Given the description of an element on the screen output the (x, y) to click on. 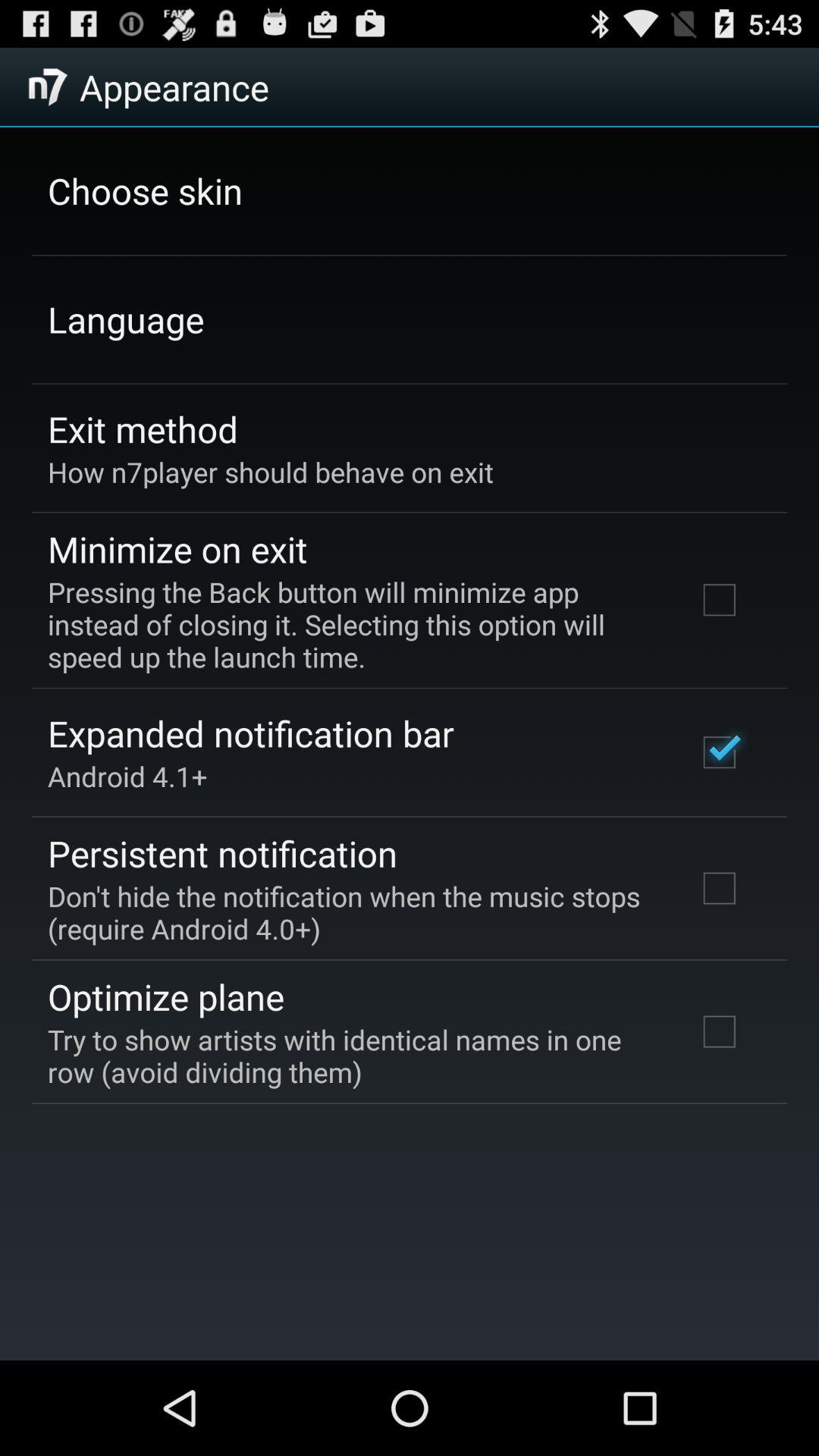
scroll to the optimize plane (165, 996)
